Given the description of an element on the screen output the (x, y) to click on. 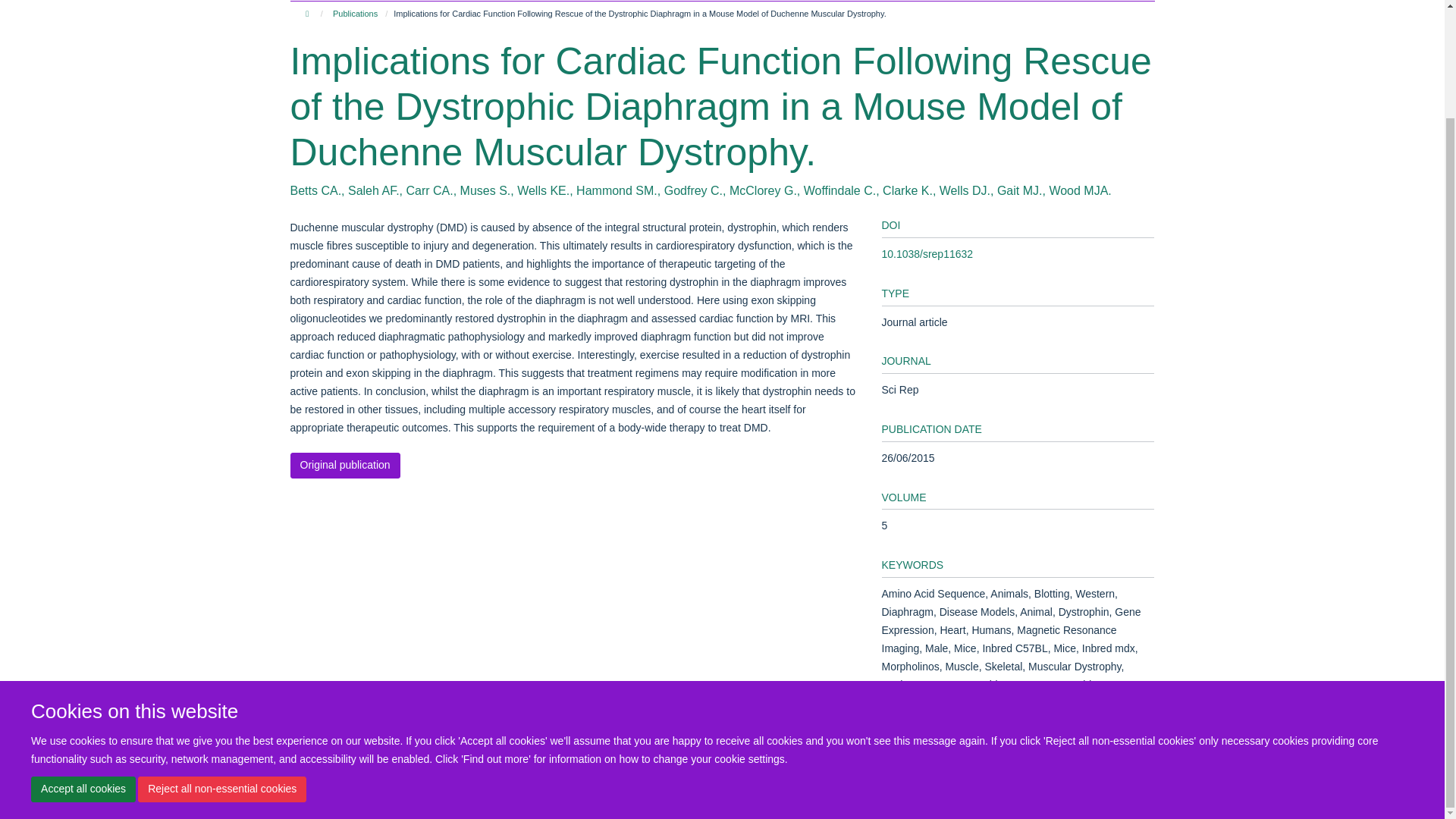
Reject all non-essential cookies (221, 661)
Accept all cookies (82, 661)
